Given the description of an element on the screen output the (x, y) to click on. 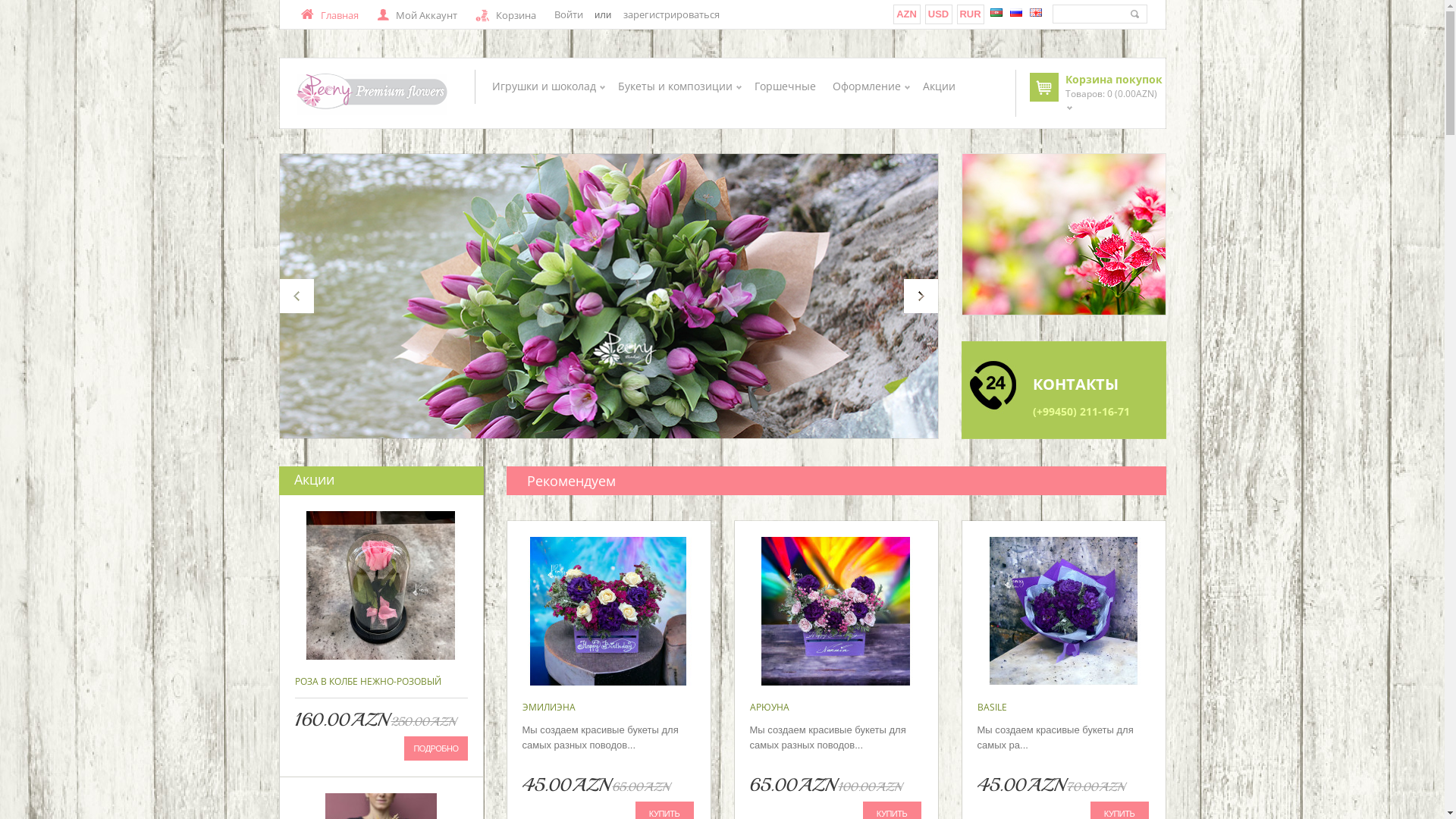
banner-2 Element type: hover (1063, 390)
banner-1 Element type: hover (1062, 233)
BASILE Element type: text (991, 706)
English Element type: hover (1035, 11)
AZN Element type: text (906, 13)
RUR Element type: text (969, 13)
USD Element type: text (938, 13)
Peony Flower Element type: hover (370, 94)
